Given the description of an element on the screen output the (x, y) to click on. 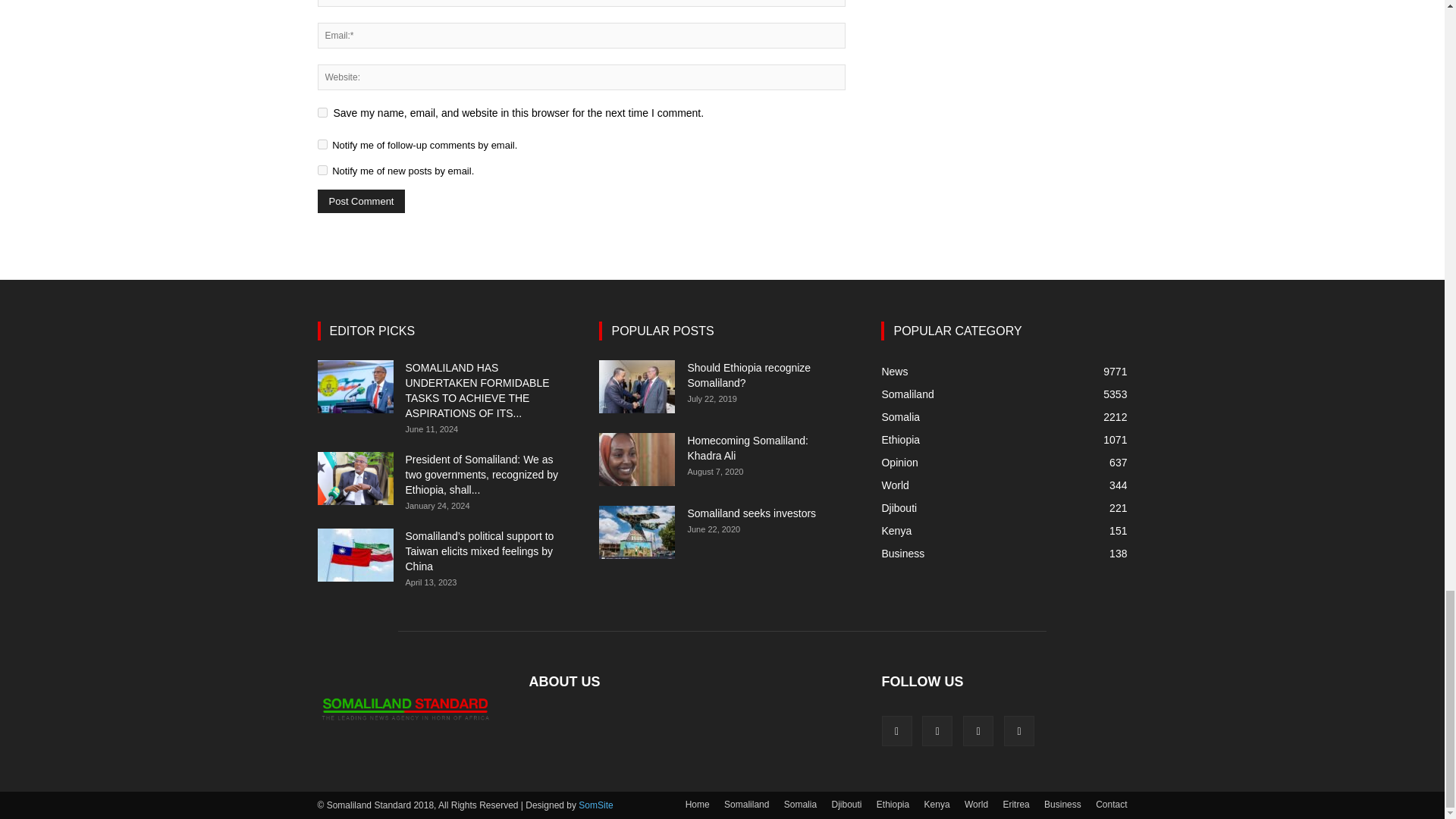
subscribe (321, 170)
subscribe (321, 144)
yes (321, 112)
Post Comment (360, 200)
